Given the description of an element on the screen output the (x, y) to click on. 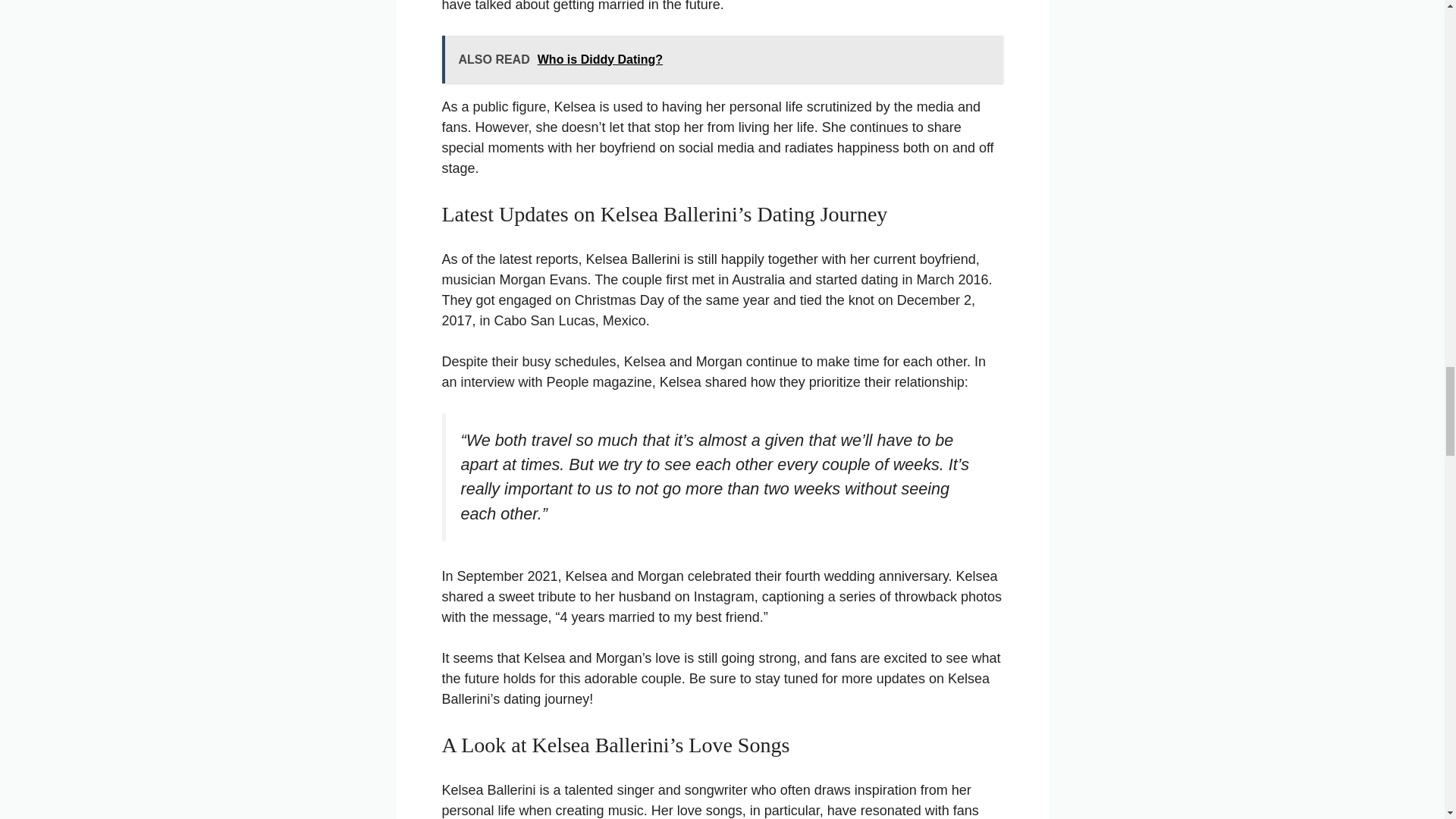
ALSO READ  Who is Diddy Dating? (722, 58)
